Given the description of an element on the screen output the (x, y) to click on. 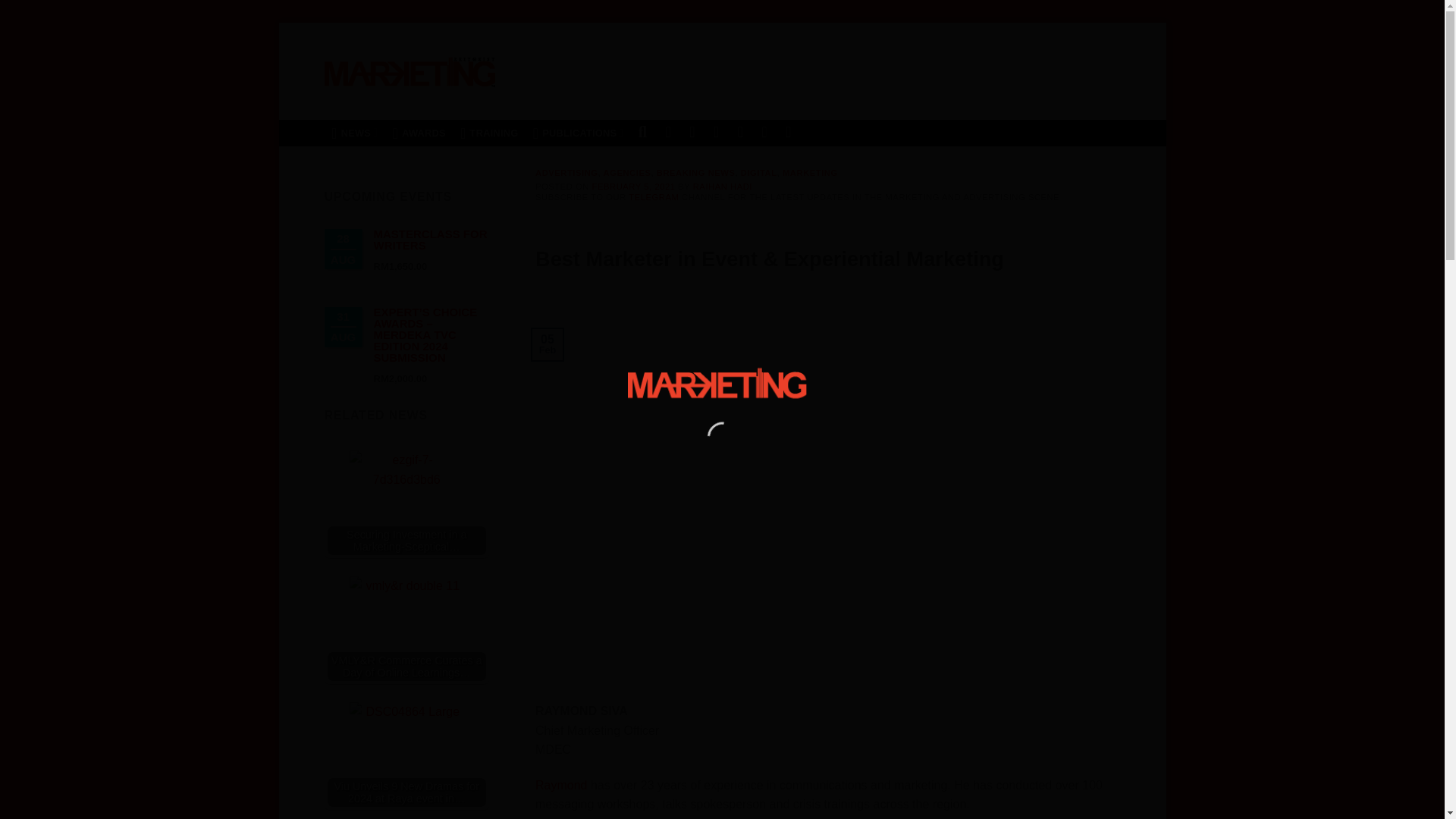
Masterclass for Writers (429, 239)
NEWS (354, 133)
AWARDS (418, 133)
PUBLICATIONS (577, 133)
TRAINING (488, 133)
MASTERCLASS FOR WRITERS (429, 239)
